Given the description of an element on the screen output the (x, y) to click on. 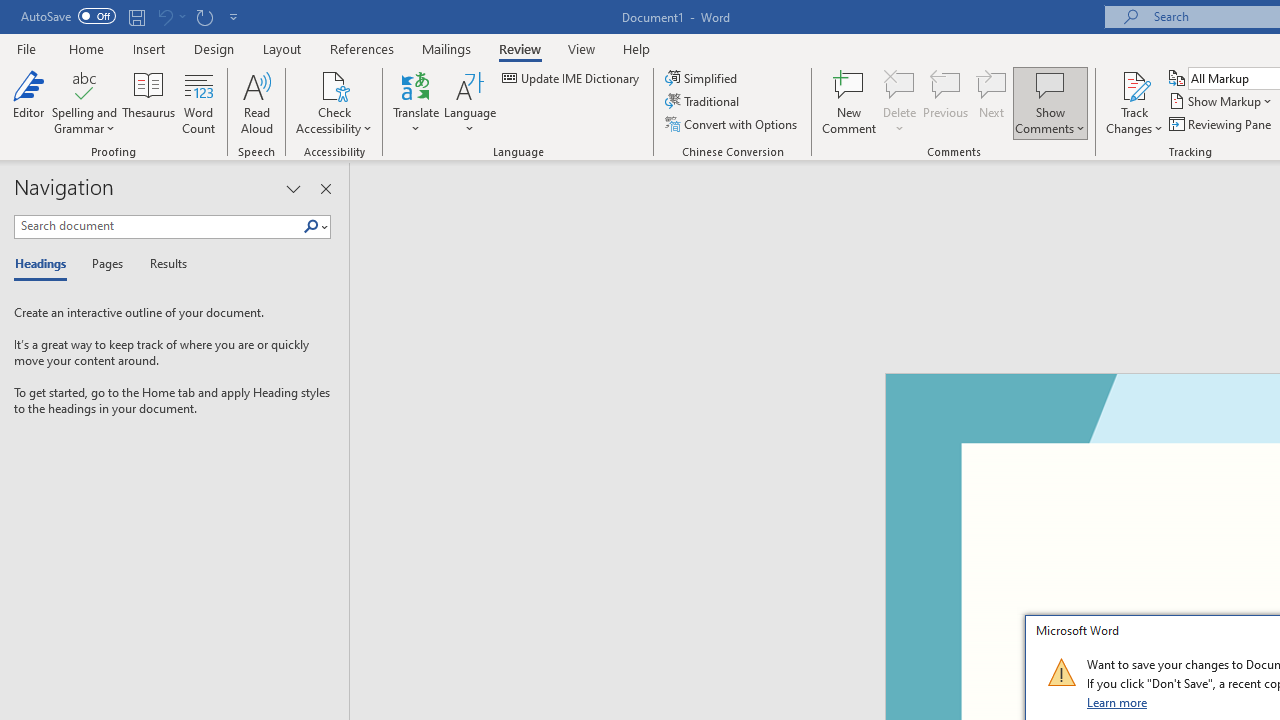
Track Changes (1134, 102)
Help (637, 48)
Next (991, 102)
Results (161, 264)
Update IME Dictionary... (572, 78)
Spelling and Grammar (84, 84)
Show Comments (1050, 102)
New Comment (849, 102)
Review (520, 48)
Can't Undo (164, 15)
Layout (282, 48)
Word Count (198, 102)
Editor (28, 102)
Language (470, 102)
Task Pane Options (293, 188)
